Given the description of an element on the screen output the (x, y) to click on. 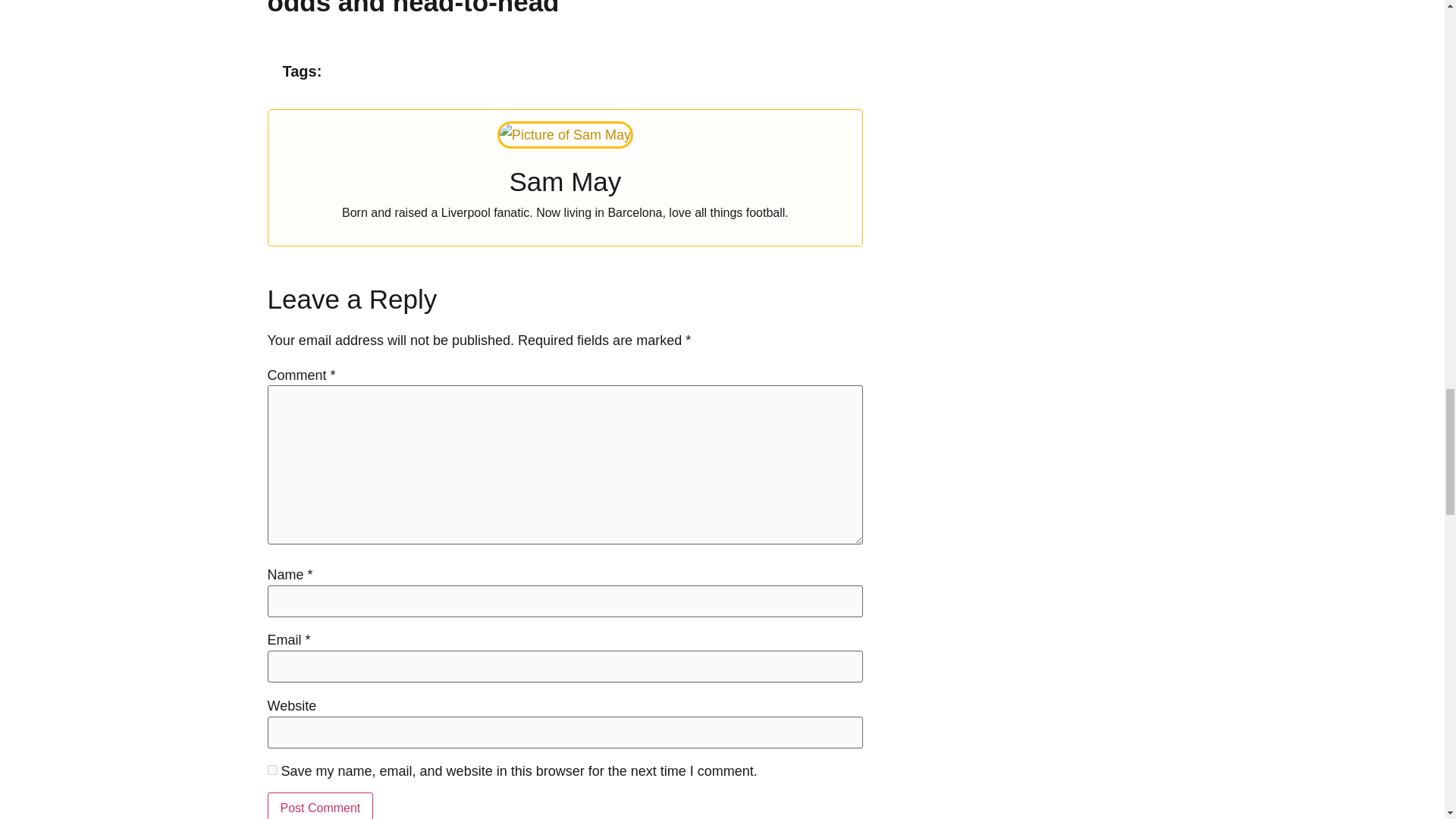
Post Comment (319, 805)
yes (271, 769)
